Given the description of an element on the screen output the (x, y) to click on. 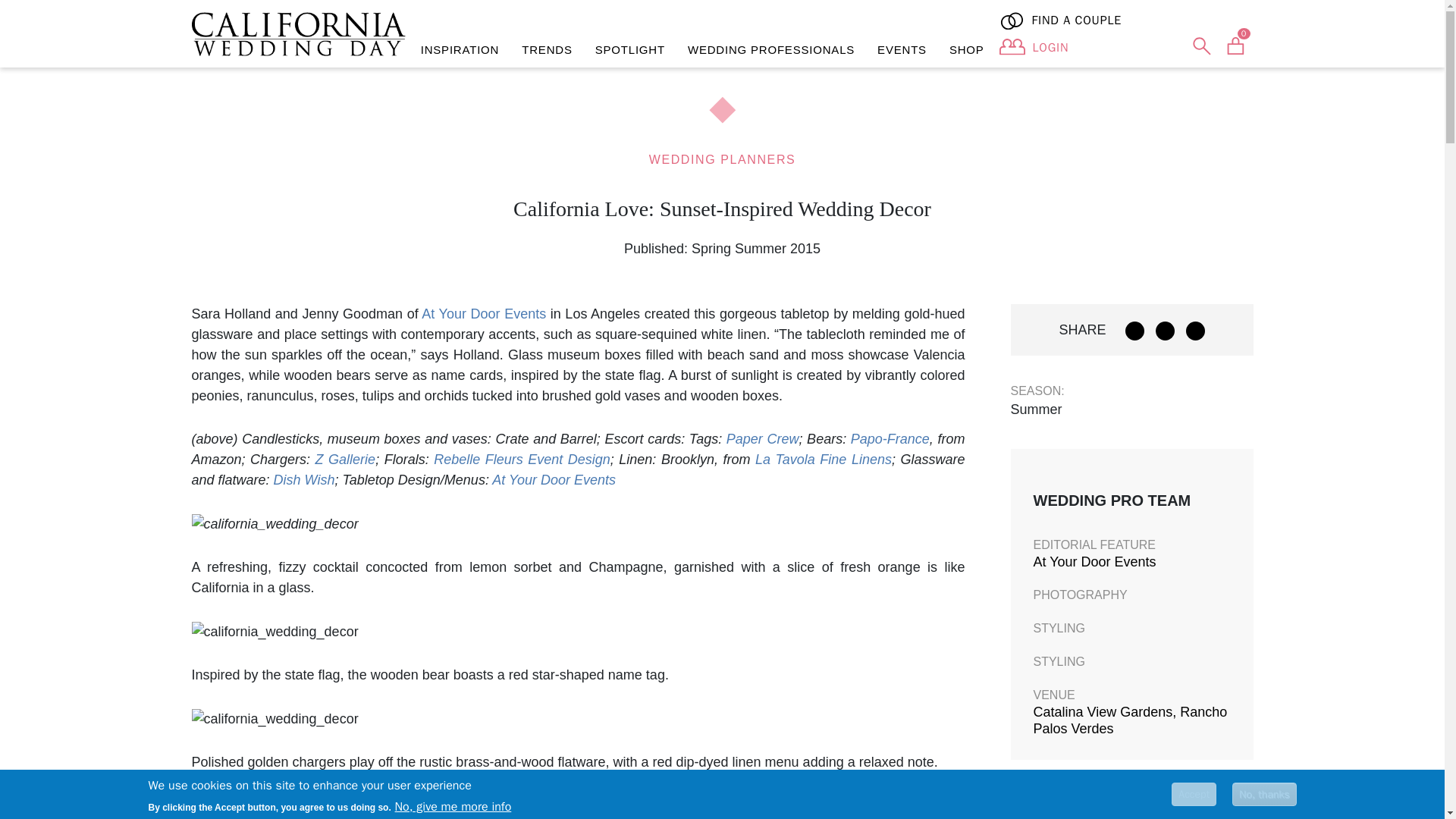
La Tavola Fine Linens (823, 459)
SPOTLIGHT (630, 50)
Papo-France (890, 438)
Rebelle Fleurs Event Design (521, 459)
EVENTS (901, 50)
Home (297, 34)
TRENDS (547, 50)
INSPIRATION (460, 50)
Catalina View Gardens, Rancho Palos Verdes (1129, 720)
At Your Door Events (553, 479)
Z Gallerie (345, 459)
Share to Facebook (1134, 330)
Share to Email (1195, 330)
Share to Pinterest (1165, 330)
SHOP (966, 50)
